Given the description of an element on the screen output the (x, y) to click on. 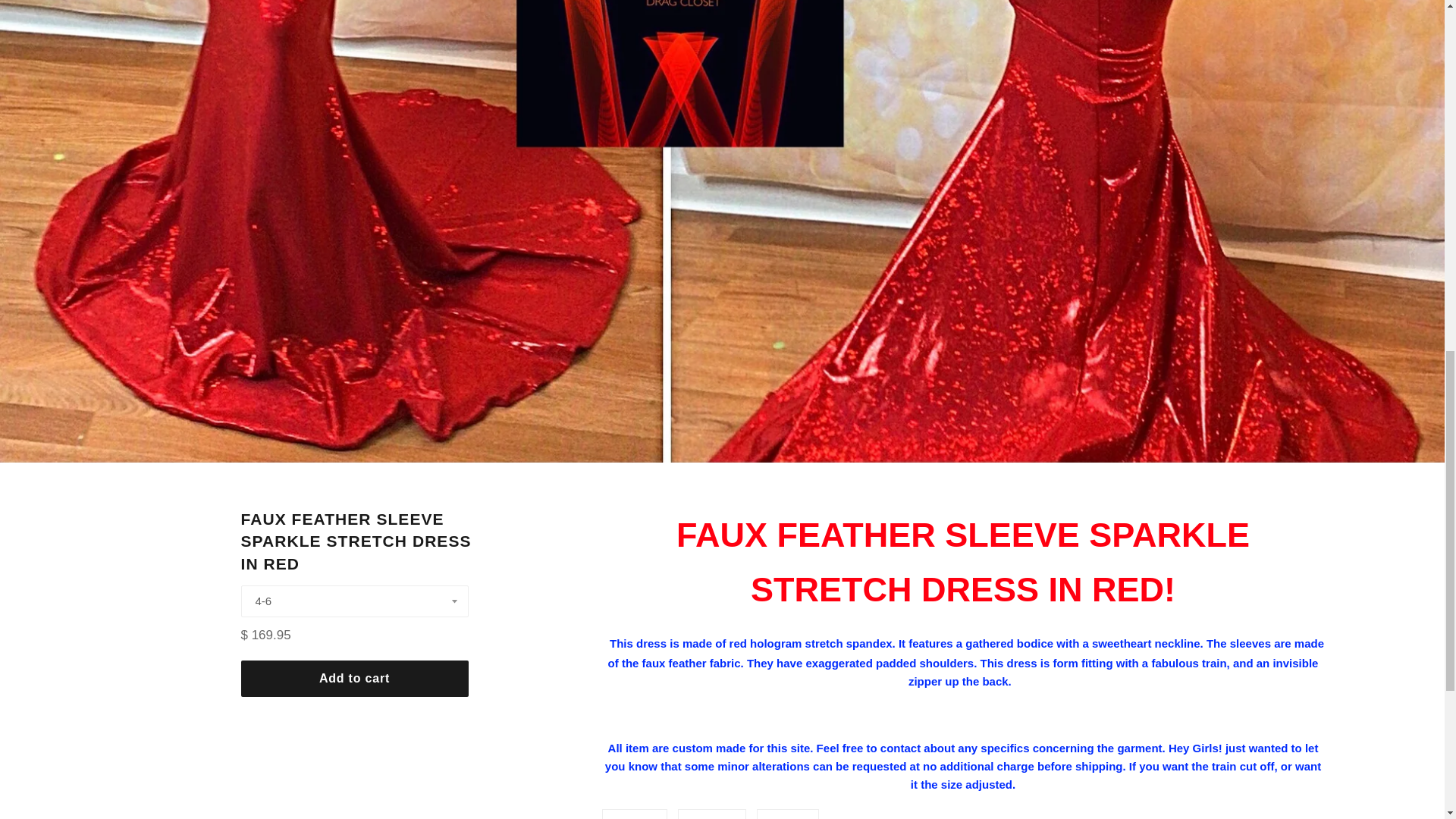
Pin on Pinterest (634, 814)
Tweet on Twitter (787, 814)
Share on Facebook (711, 814)
Add to cart (634, 814)
